Given the description of an element on the screen output the (x, y) to click on. 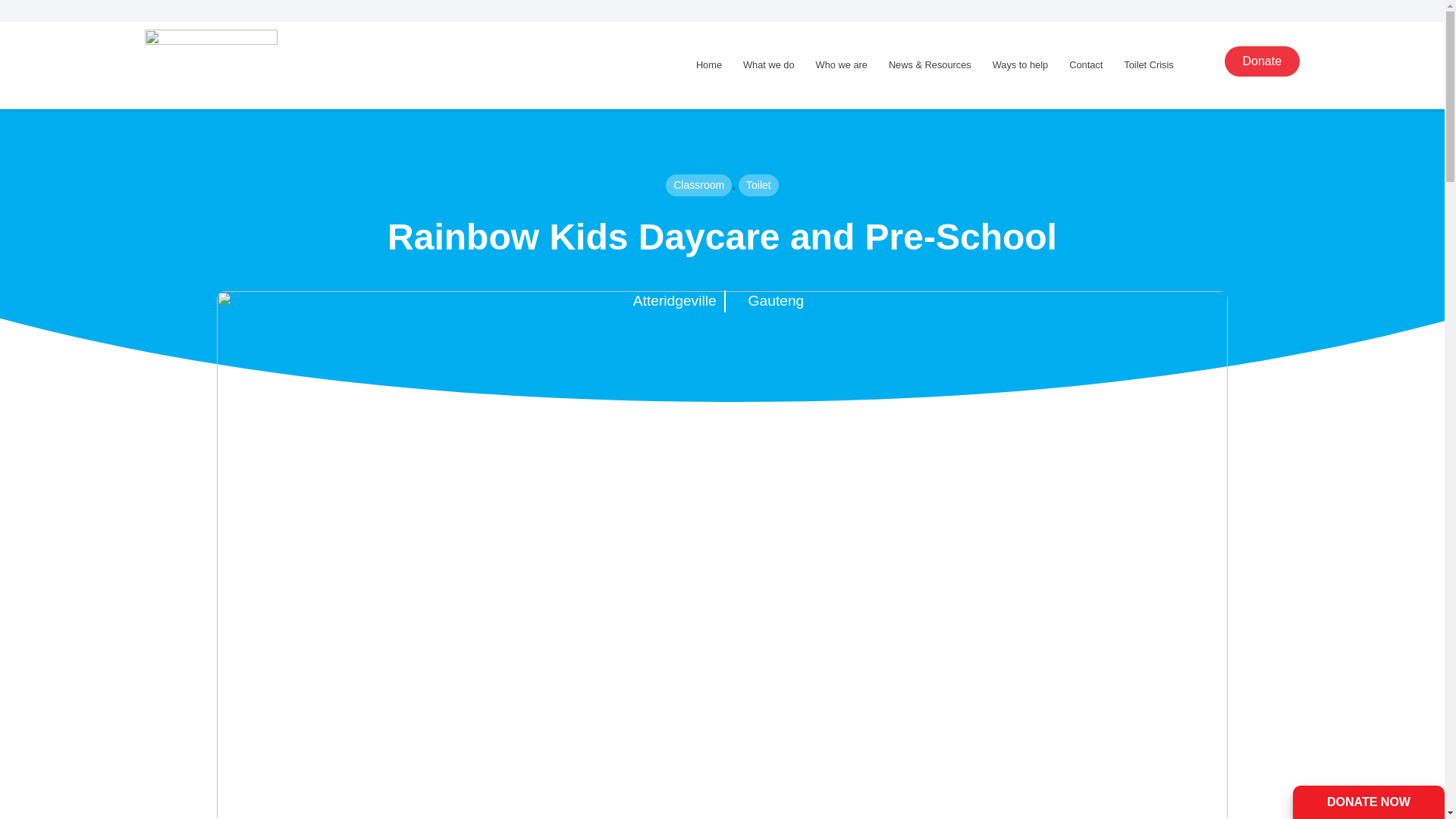
Contact (1085, 64)
Who we are (841, 64)
Ways to help (1020, 64)
Toilet Crisis (1148, 64)
Home (708, 64)
What we do (768, 64)
